Given the description of an element on the screen output the (x, y) to click on. 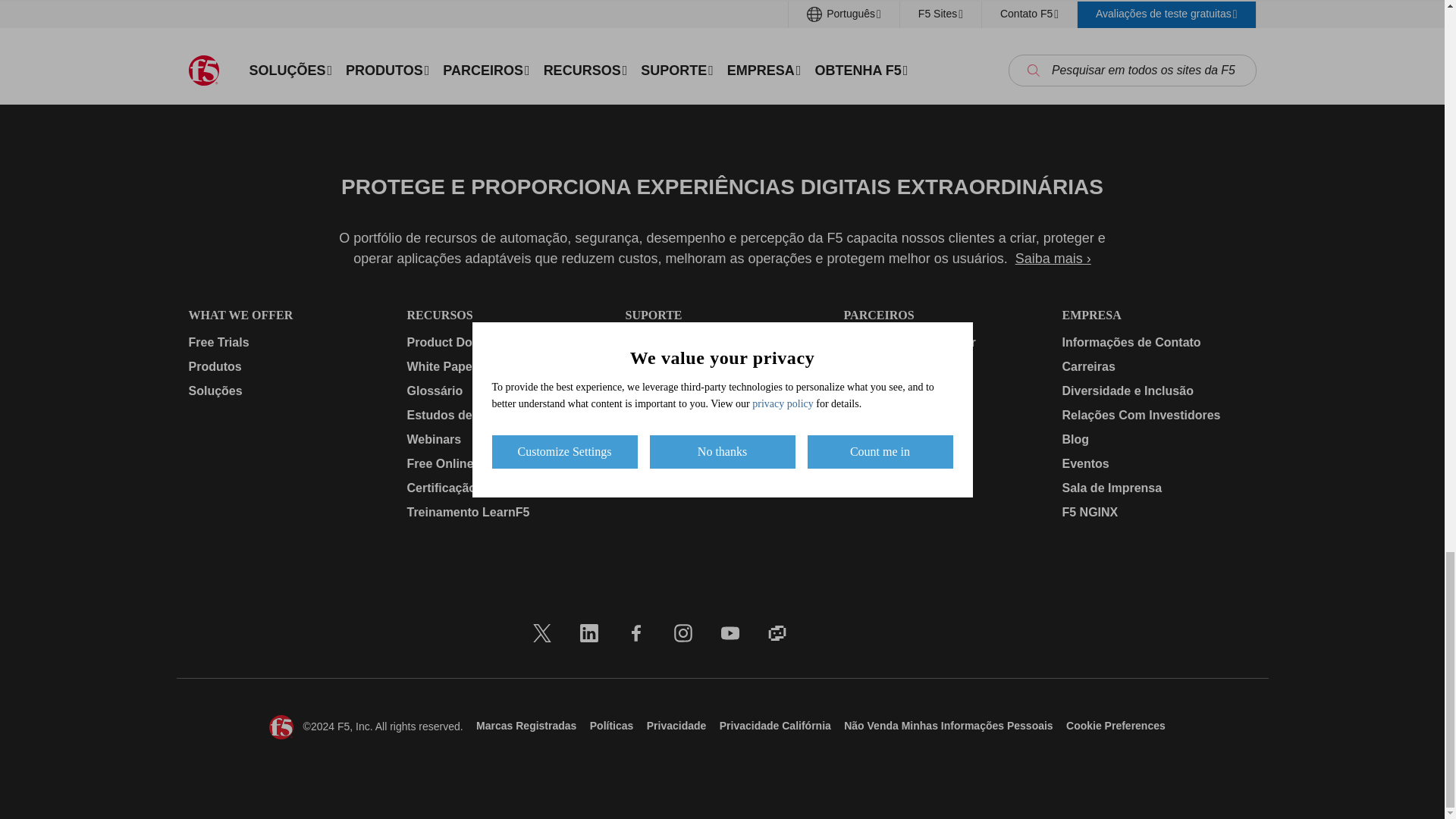
Free Online Courses (502, 463)
Manage Subscriptions (721, 341)
Produtos (284, 366)
Suporte do Portal (721, 366)
Professional Services (721, 390)
Product Documentation (502, 341)
Estudos de Casos de Clientes (502, 414)
White Papers (502, 366)
Free Trials (284, 341)
Treinamento LearnF5 (502, 511)
Webinars (502, 438)
